Given the description of an element on the screen output the (x, y) to click on. 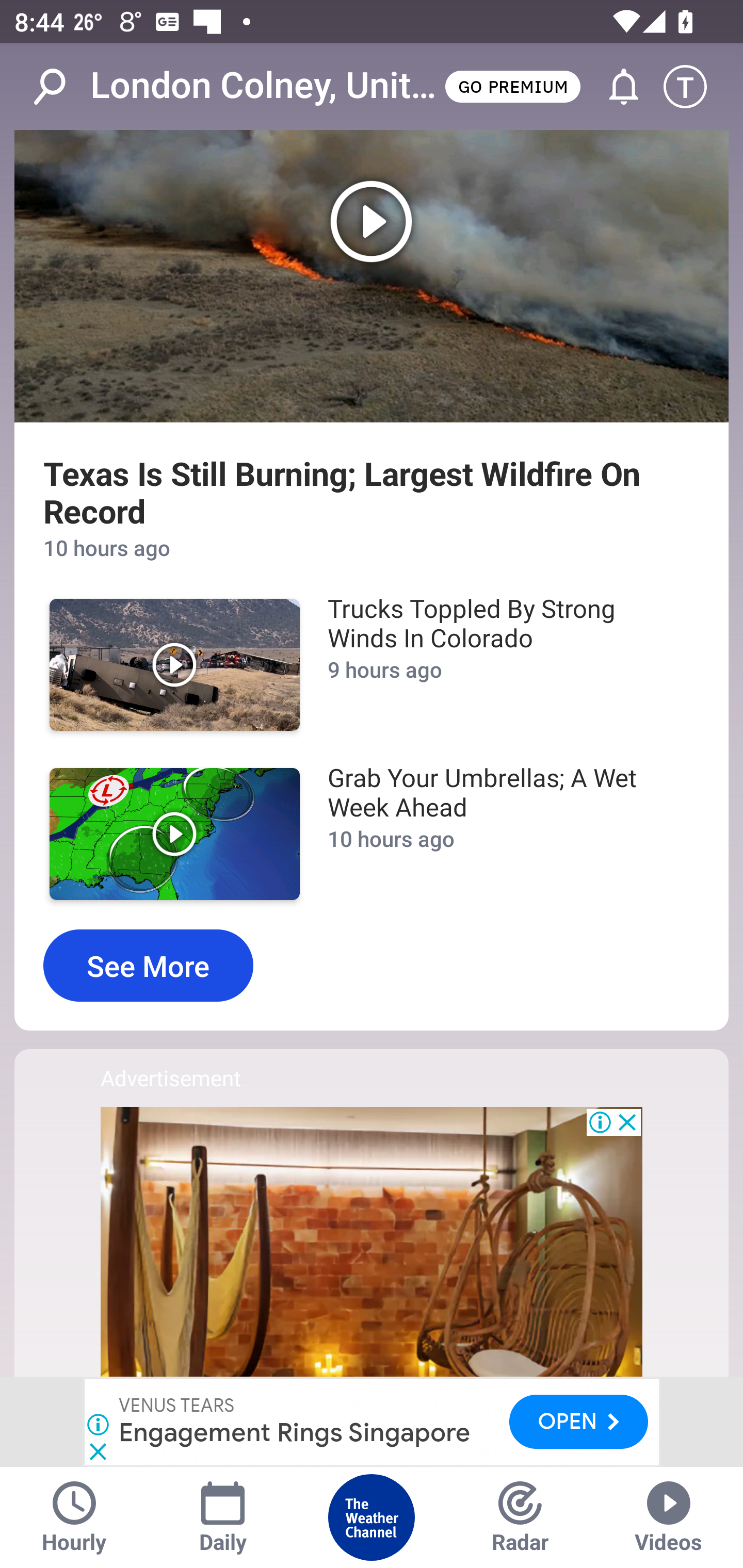
Search (59, 86)
Go to Alerts and Notifications (614, 86)
Setting icon T (694, 86)
London Colney, United Kingdom (265, 85)
GO PREMIUM (512, 85)
Play (371, 275)
Play (174, 664)
Grab Your Umbrellas; A Wet Week Ahead 10 hours ago (502, 833)
Play (174, 834)
See More (148, 965)
VENUS TEARS (177, 1405)
OPEN (578, 1420)
Engagement Rings Singapore (295, 1431)
Hourly Tab Hourly (74, 1517)
Daily Tab Daily (222, 1517)
Radar Tab Radar (519, 1517)
Videos Tab Videos (668, 1517)
